Given the description of an element on the screen output the (x, y) to click on. 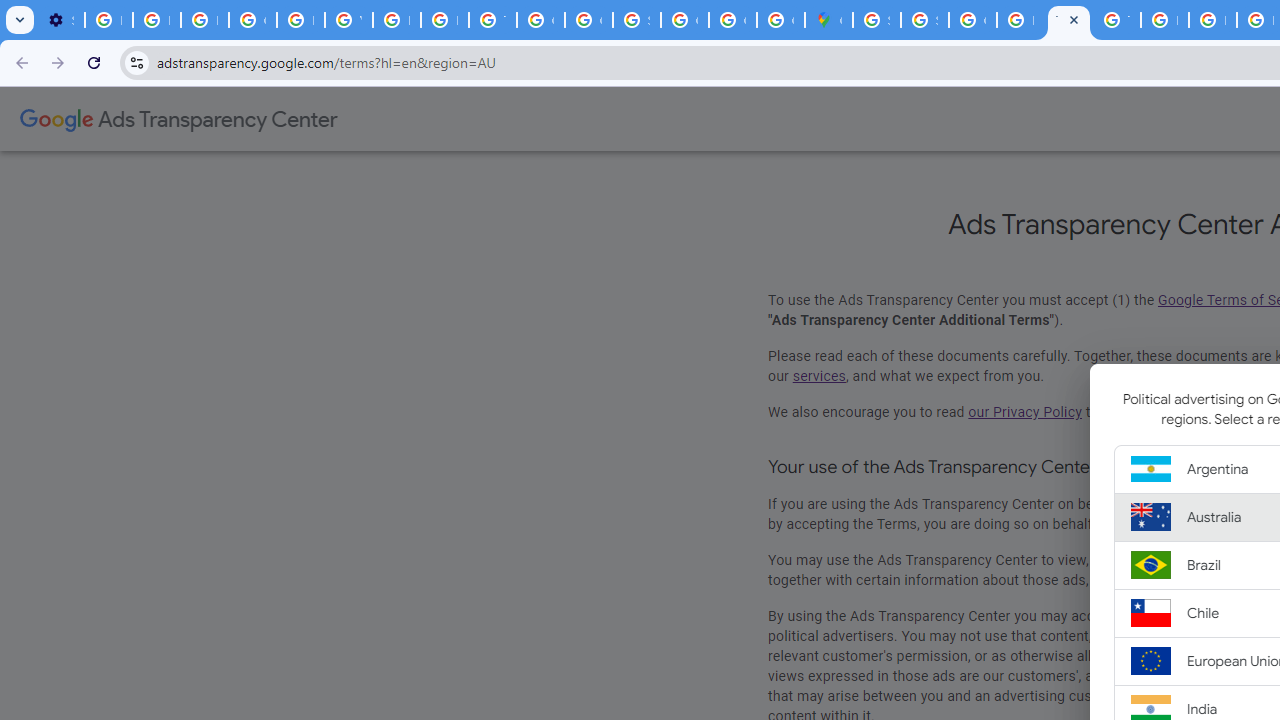
services (819, 376)
Privacy Help Center - Policies Help (444, 20)
Learn how to find your photos - Google Photos Help (156, 20)
Settings - Customize profile (60, 20)
Blogger Policies and Guidelines - Transparency Center (1164, 20)
Sign in - Google Accounts (876, 20)
our Privacy Policy (1024, 412)
Terms and Conditions (1068, 20)
